Given the description of an element on the screen output the (x, y) to click on. 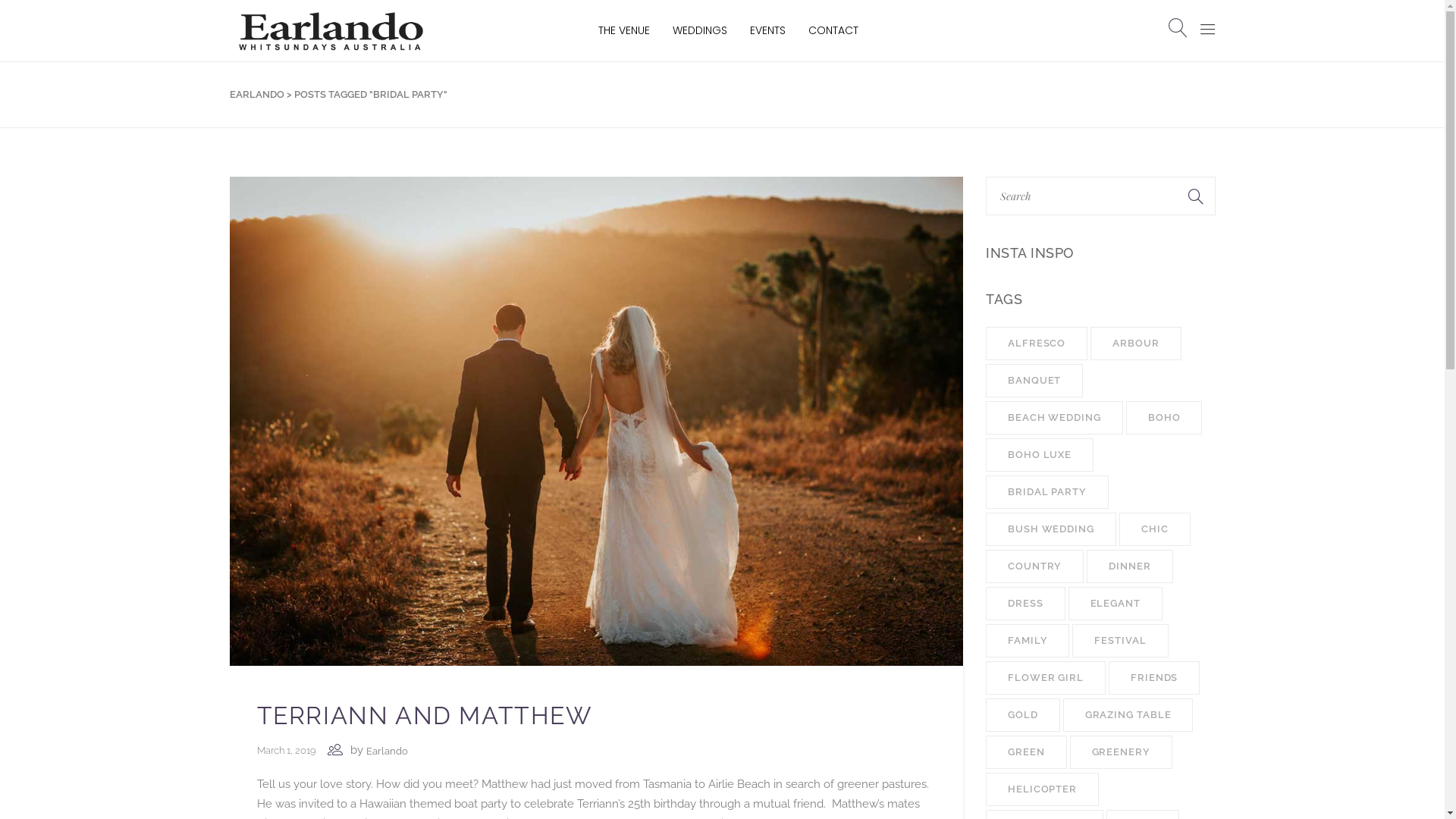
THE VENUE Element type: text (623, 30)
COUNTRY Element type: text (1034, 566)
FRIENDS Element type: text (1153, 677)
BOHO Element type: text (1164, 417)
CONTACT Element type: text (833, 30)
EVENTS Element type: text (767, 30)
BOHO LUXE Element type: text (1039, 454)
FLOWER GIRL Element type: text (1045, 677)
CHIC Element type: text (1154, 529)
DRESS Element type: text (1025, 603)
BRIDAL PARTY Element type: text (1046, 491)
FESTIVAL Element type: text (1119, 640)
FAMILY Element type: text (1027, 640)
WEDDINGS Element type: text (699, 30)
BANQUET Element type: text (1033, 380)
Earlando Element type: text (386, 751)
TERRIANN AND MATTHEW Element type: text (423, 715)
GREENERY Element type: text (1121, 751)
GOLD Element type: text (1022, 714)
TERRIANN AND MATTHEW Element type: hover (596, 419)
ELEGANT Element type: text (1115, 603)
ALFRESCO Element type: text (1036, 343)
BUSH WEDDING Element type: text (1050, 529)
ARBOUR Element type: text (1135, 343)
BEACH WEDDING Element type: text (1054, 417)
GREEN Element type: text (1025, 751)
GRAZING TABLE Element type: text (1128, 714)
HELICOPTER Element type: text (1041, 789)
EARLANDO Element type: text (256, 94)
DINNER Element type: text (1129, 566)
